Given the description of an element on the screen output the (x, y) to click on. 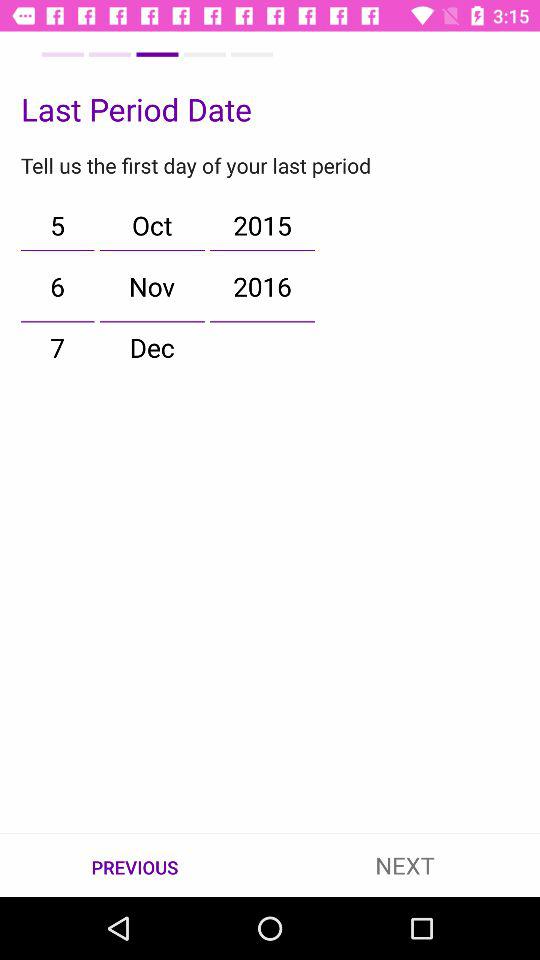
flip to the next (405, 864)
